Given the description of an element on the screen output the (x, y) to click on. 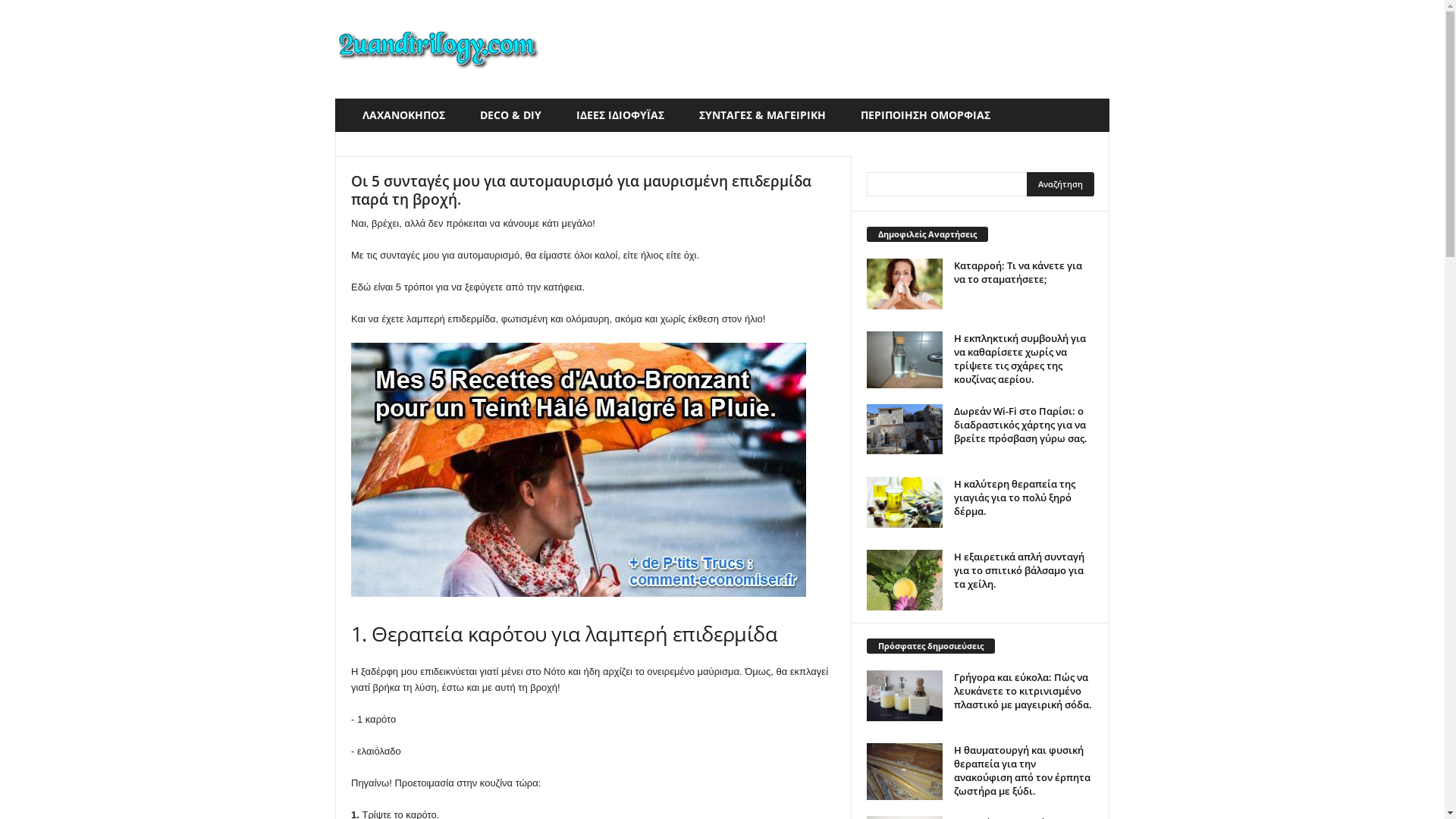
2uandtrilogy.com Element type: text (438, 49)
DECO & DIY Element type: text (516, 114)
